Given the description of an element on the screen output the (x, y) to click on. 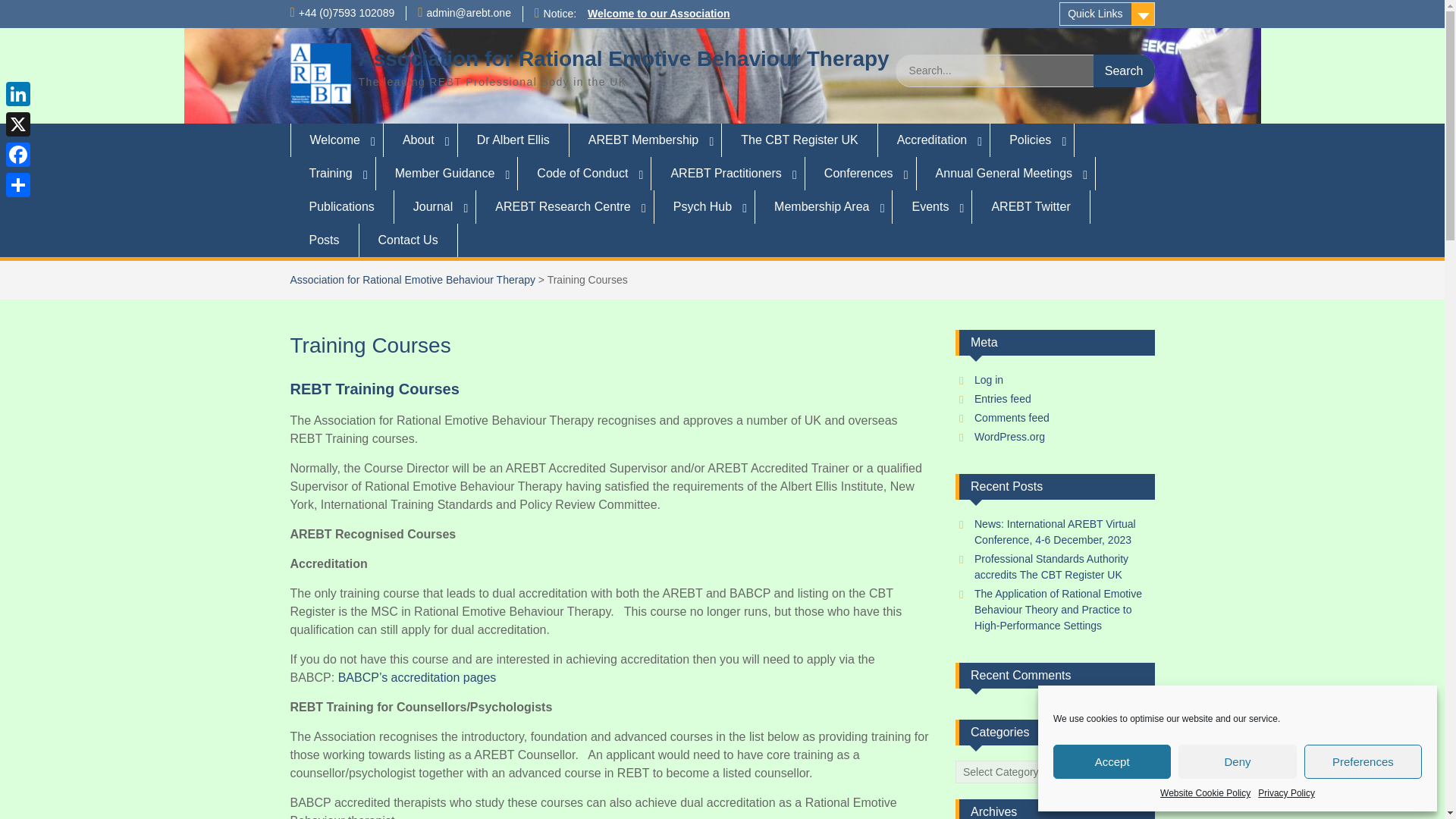
Welcome to our Association (658, 13)
Facebook (17, 154)
Search (1123, 70)
Deny (1236, 761)
Quick Links (1106, 13)
Accept (1111, 761)
Search (1123, 70)
Preferences (1363, 761)
X (17, 123)
Website Cookie Policy (1205, 793)
Privacy Policy (1285, 793)
Search for: (1024, 70)
LinkedIn (17, 93)
